Given the description of an element on the screen output the (x, y) to click on. 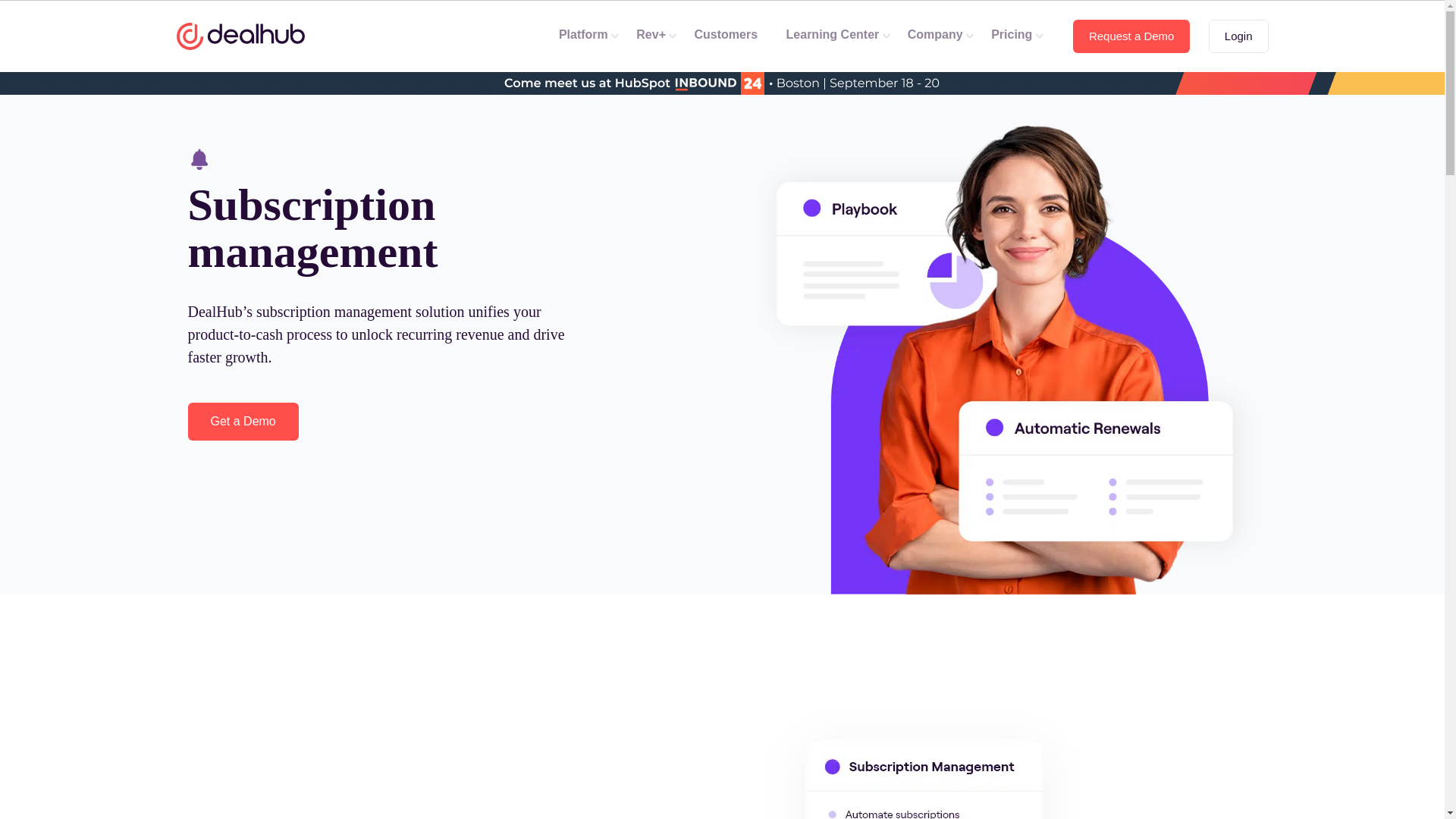
Platform (588, 36)
Customers (731, 36)
Learning Center (837, 36)
